Given the description of an element on the screen output the (x, y) to click on. 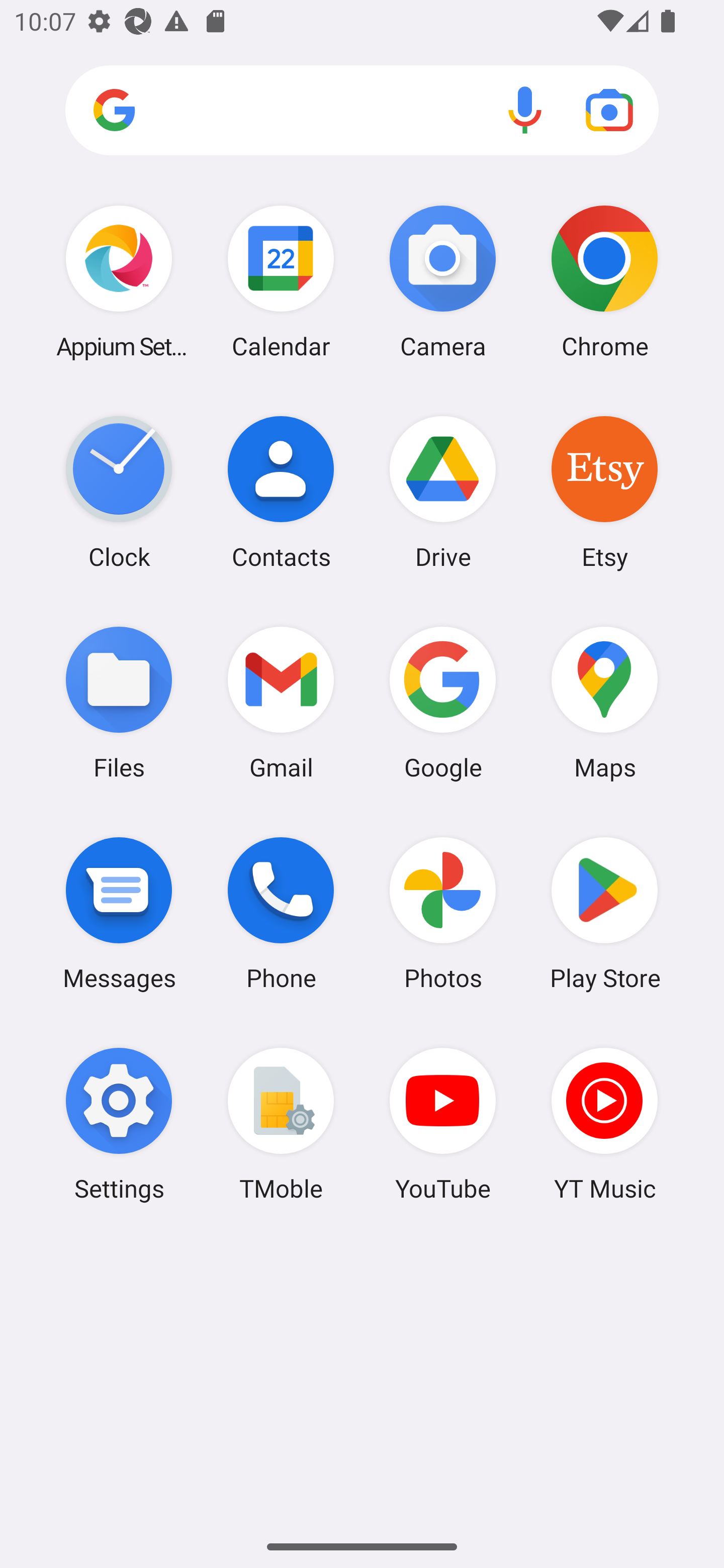
Search apps, web and more (361, 110)
Voice search (524, 109)
Google Lens (608, 109)
Appium Settings (118, 281)
Calendar (280, 281)
Camera (443, 281)
Chrome (604, 281)
Clock (118, 492)
Contacts (280, 492)
Drive (443, 492)
Etsy (604, 492)
Files (118, 702)
Gmail (280, 702)
Google (443, 702)
Maps (604, 702)
Messages (118, 913)
Phone (280, 913)
Photos (443, 913)
Play Store (604, 913)
Settings (118, 1124)
TMoble (280, 1124)
YouTube (443, 1124)
YT Music (604, 1124)
